Given the description of an element on the screen output the (x, y) to click on. 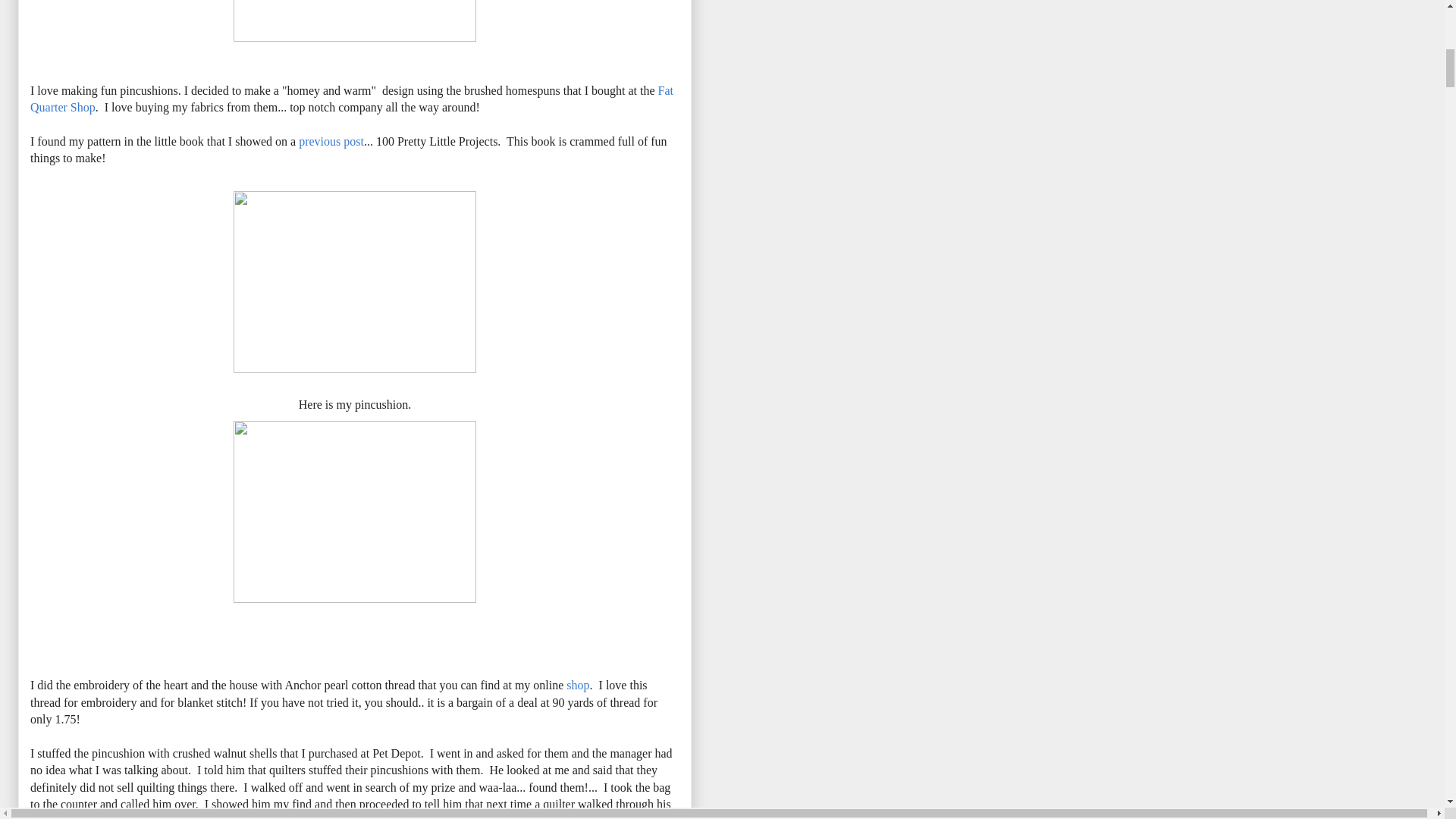
Fat Quarter Shop (351, 98)
previous post (331, 141)
shop (577, 684)
